Given the description of an element on the screen output the (x, y) to click on. 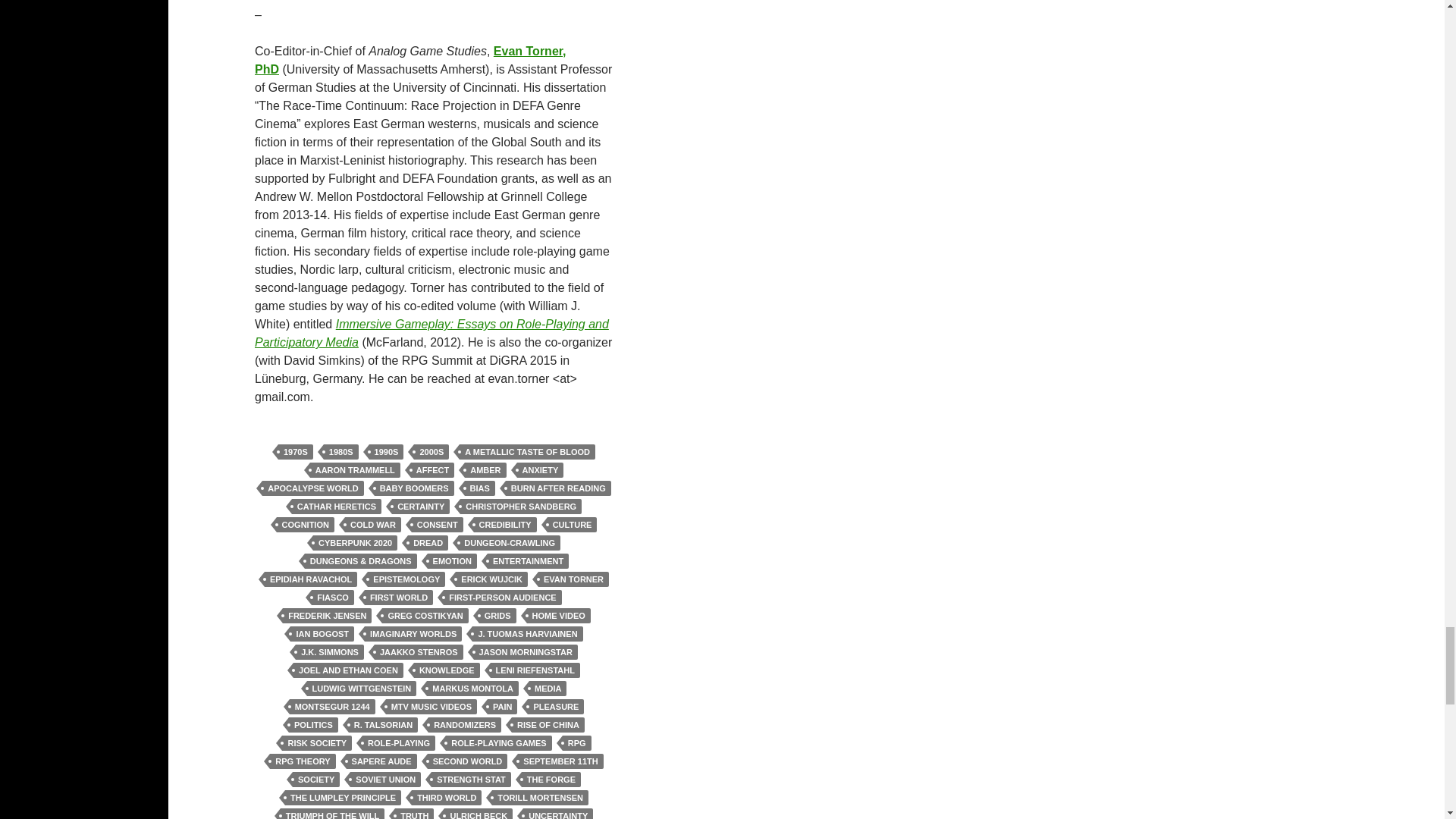
Evan Torner (410, 60)
